Given the description of an element on the screen output the (x, y) to click on. 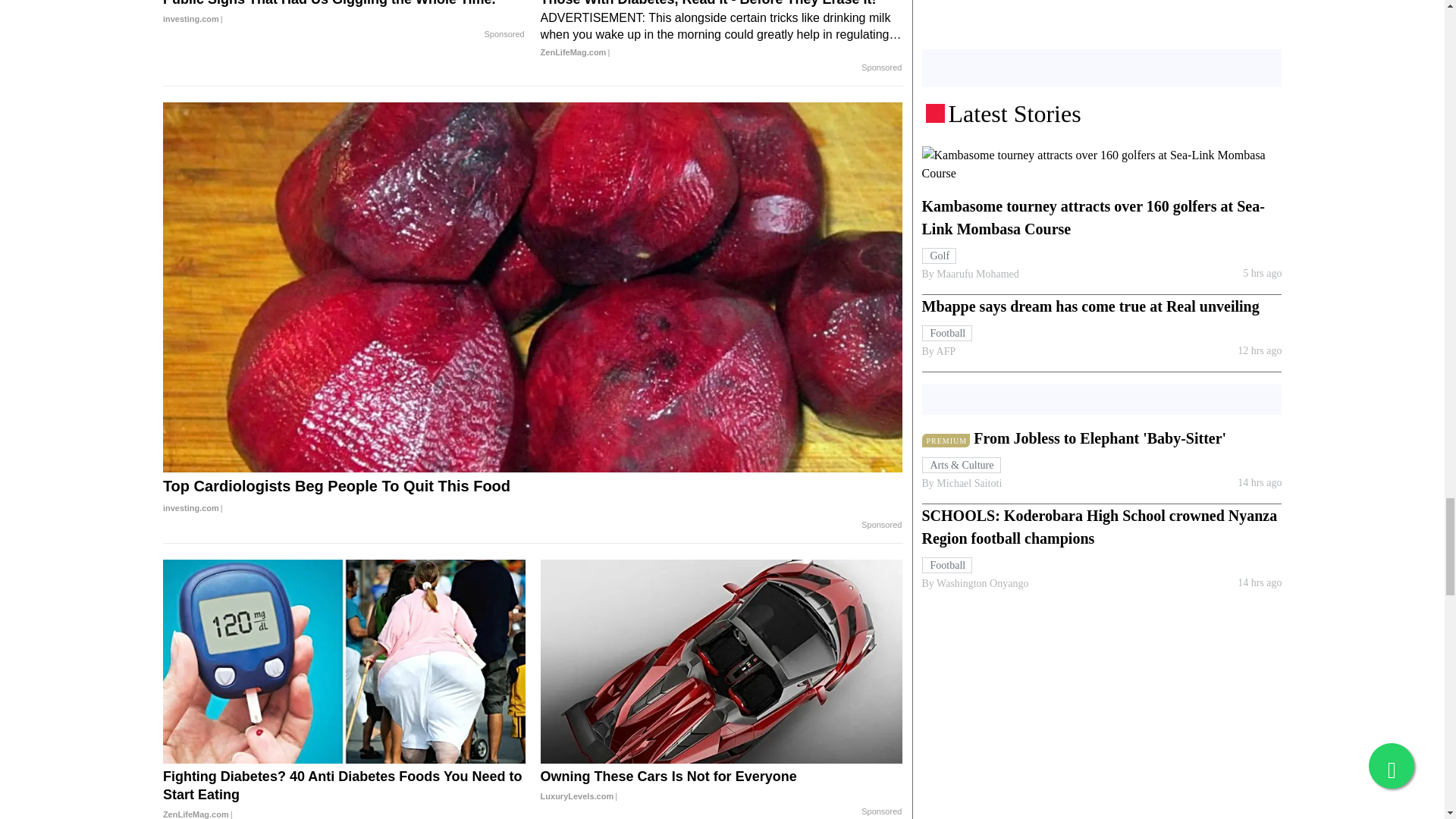
Public Signs That Had Us Giggling the Whole Time. (344, 13)
